Given the description of an element on the screen output the (x, y) to click on. 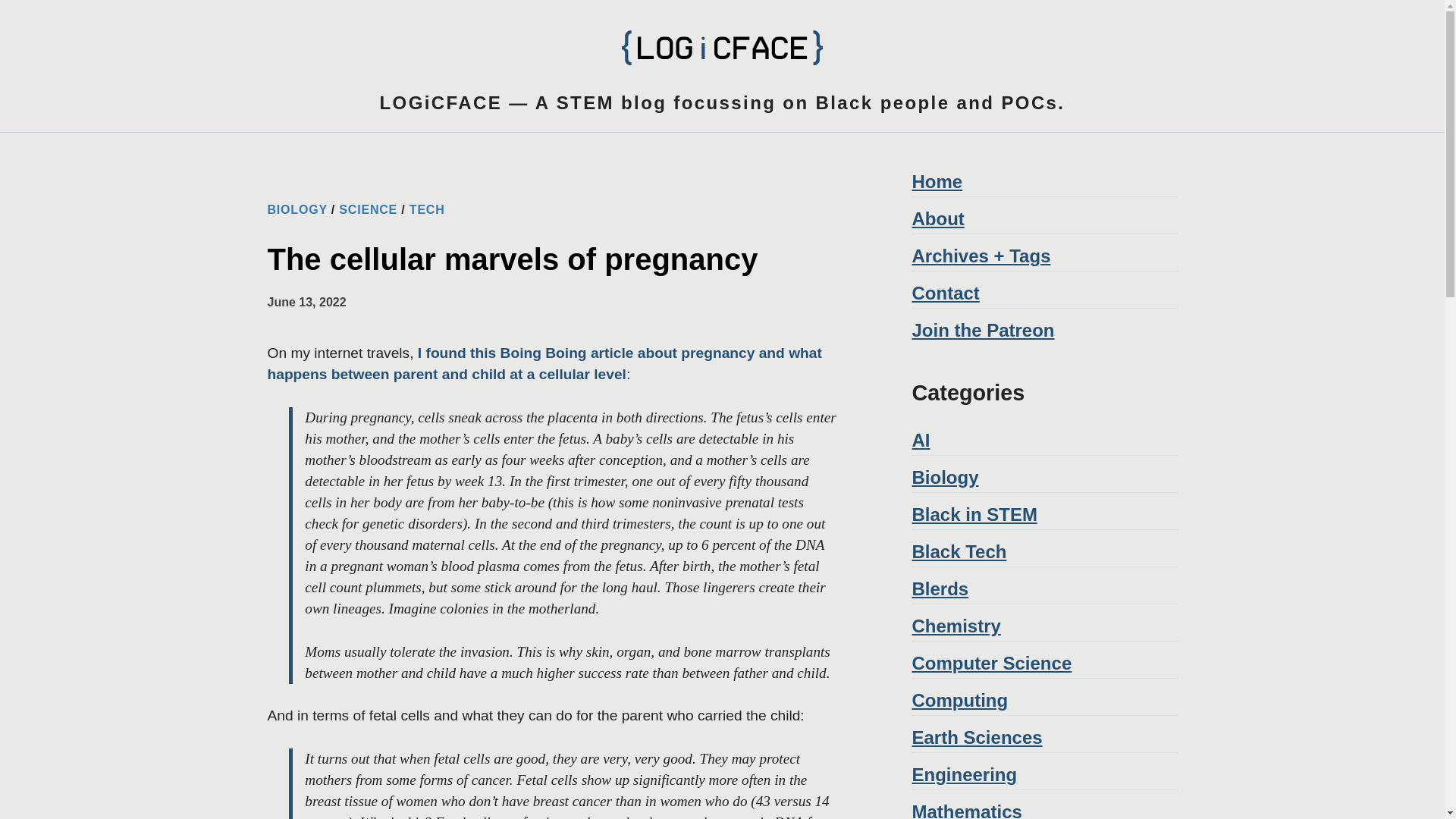
Computer Science (991, 662)
Chemistry (955, 625)
SCIENCE (368, 209)
Biology (944, 476)
Earth Sciences (976, 737)
Join the Patreon (982, 330)
Engineering (963, 774)
Mathematics (966, 810)
About (937, 218)
TECH (427, 209)
Black in STEM (973, 514)
Computing (959, 700)
